Given the description of an element on the screen output the (x, y) to click on. 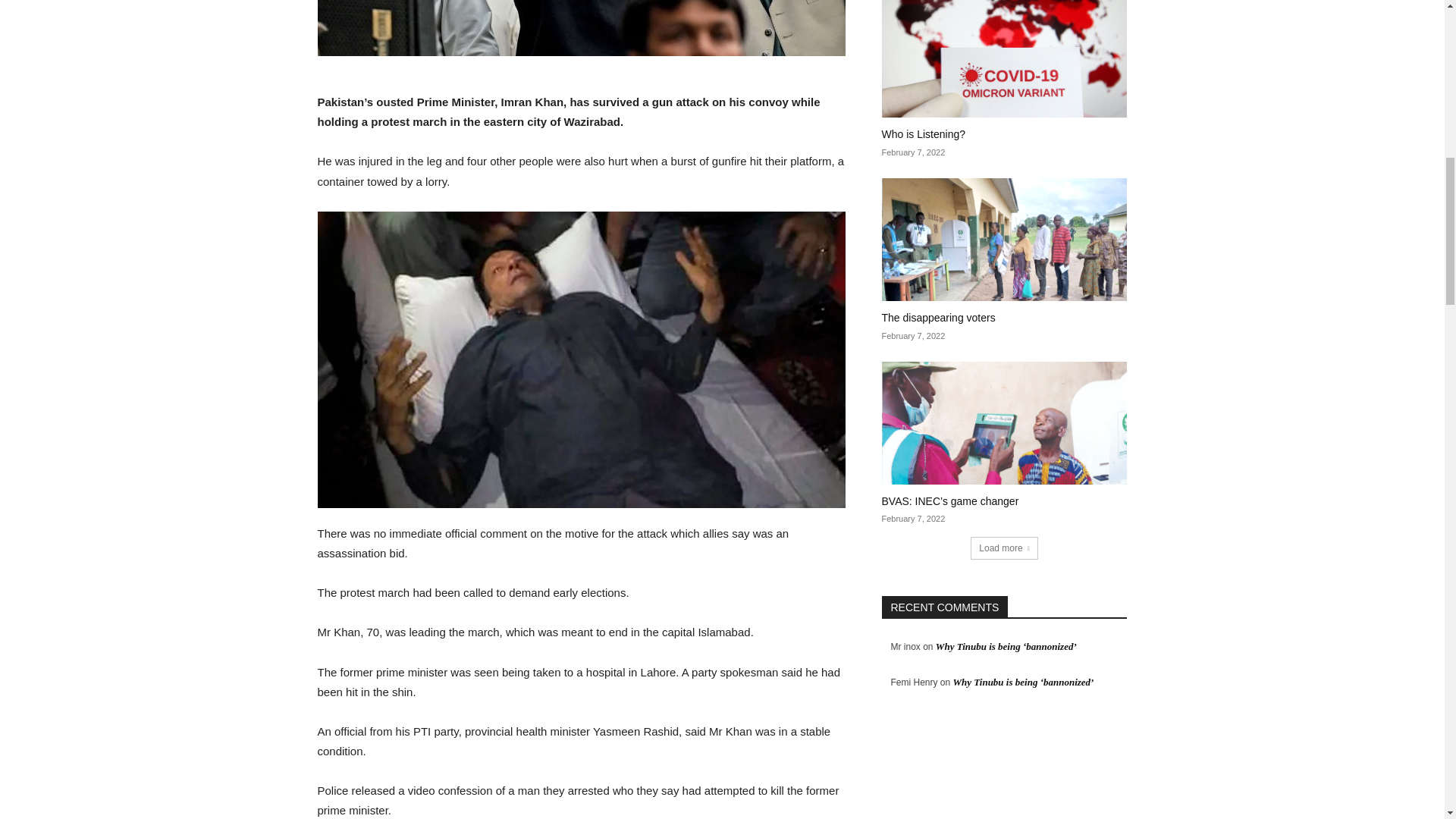
Imran Khan (580, 28)
